Given the description of an element on the screen output the (x, y) to click on. 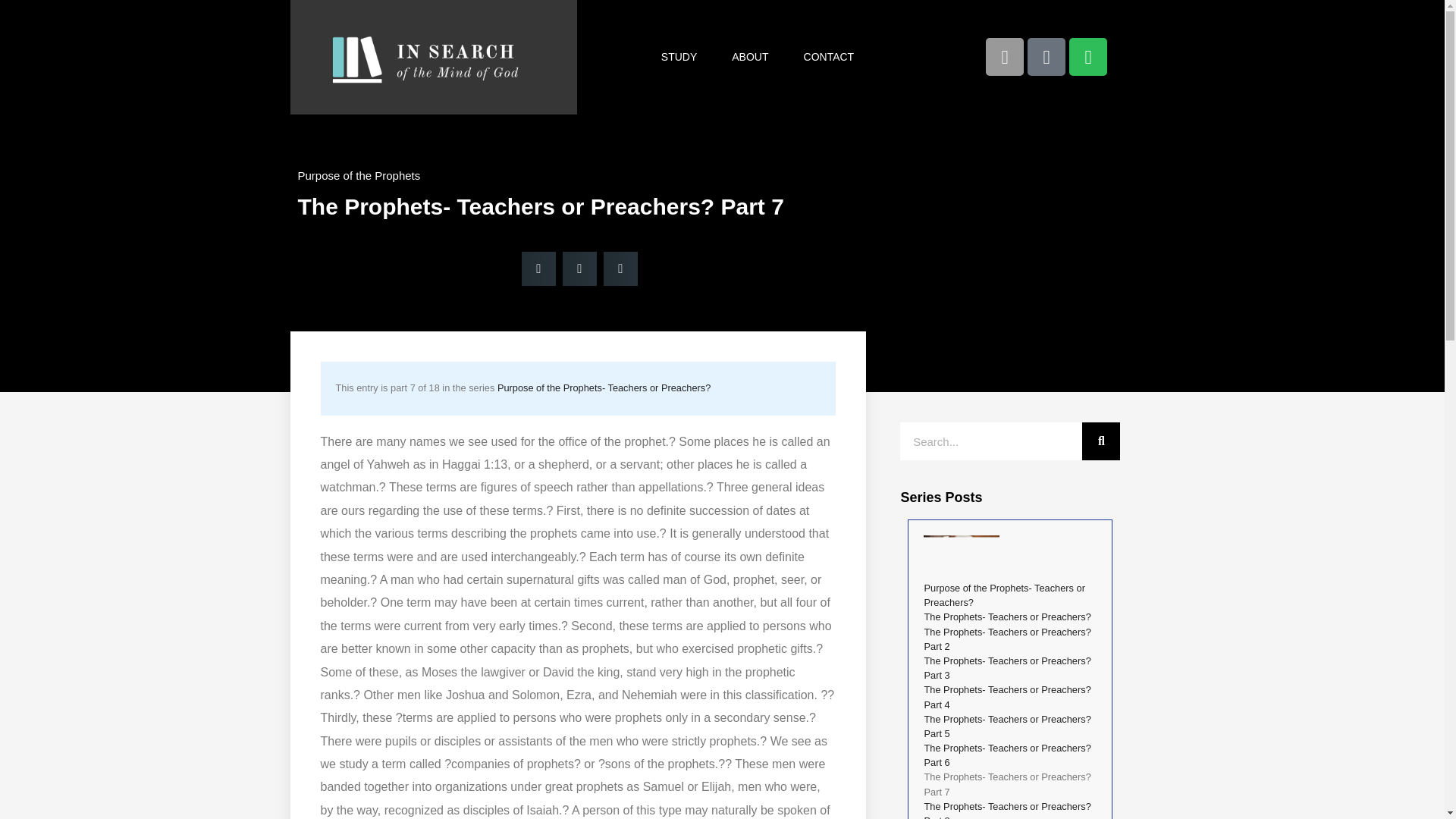
The Prophets- Teachers or Preachers? Part 2 (1006, 638)
STUDY (678, 56)
The Prophets- Teachers or Preachers? Part 4 (1006, 696)
ABOUT (749, 56)
The Prophets- Teachers or Preachers? Part 3 (1006, 667)
Purpose of the Prophets- Teachers or Preachers? (603, 387)
Purpose of the Prophets- Teachers or Preachers? (1003, 595)
CONTACT (829, 56)
The Prophets- Teachers or Preachers? Part 8 (1006, 809)
The Prophets- Teachers or Preachers? Part 6 (1006, 755)
